Given the description of an element on the screen output the (x, y) to click on. 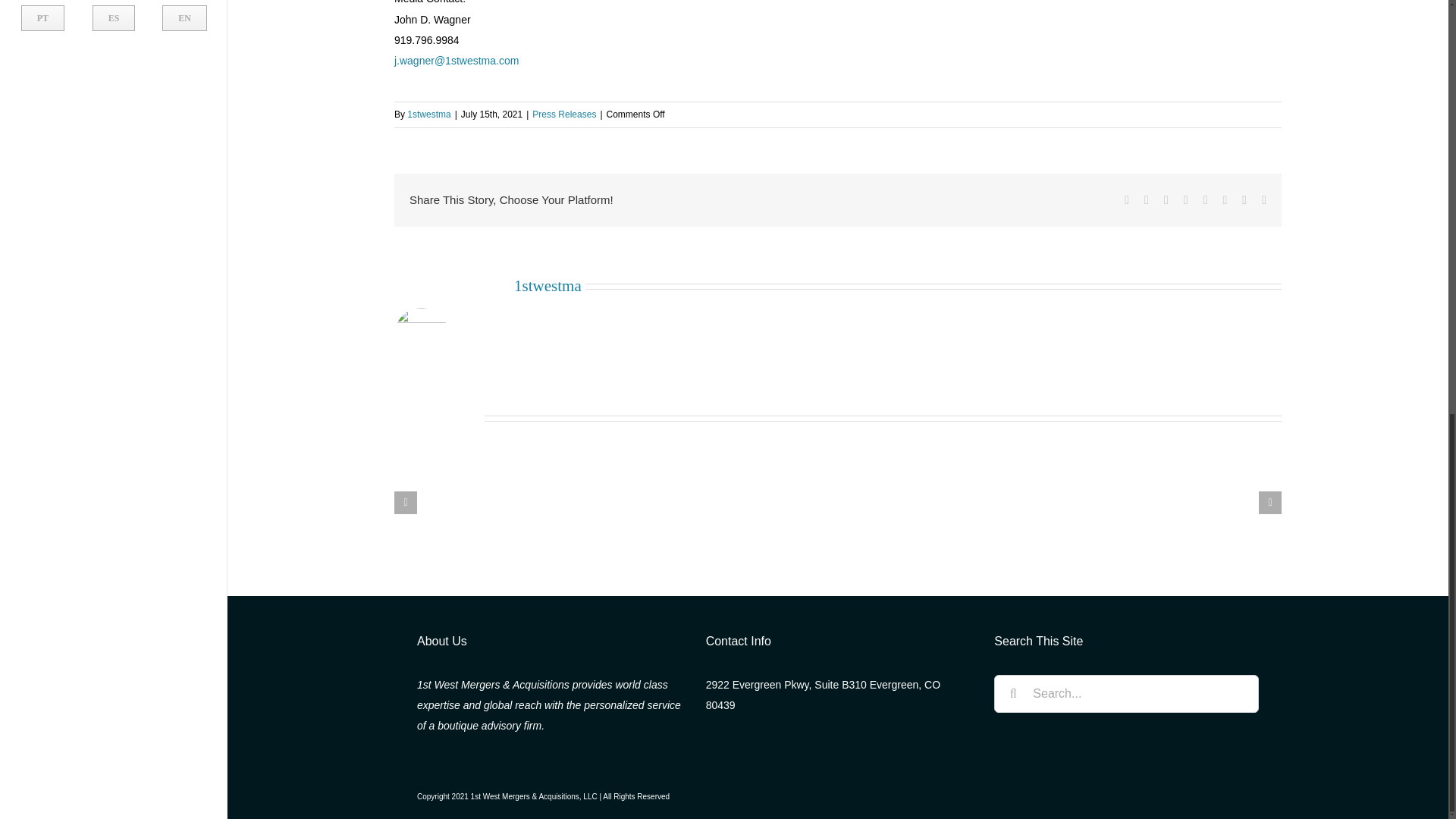
Posts by 1stwestma (113, 22)
1stwestma (546, 285)
ES (428, 113)
PT (114, 17)
Posts by 1stwestma (42, 17)
Press Releases (428, 113)
EN (563, 113)
